Given the description of an element on the screen output the (x, y) to click on. 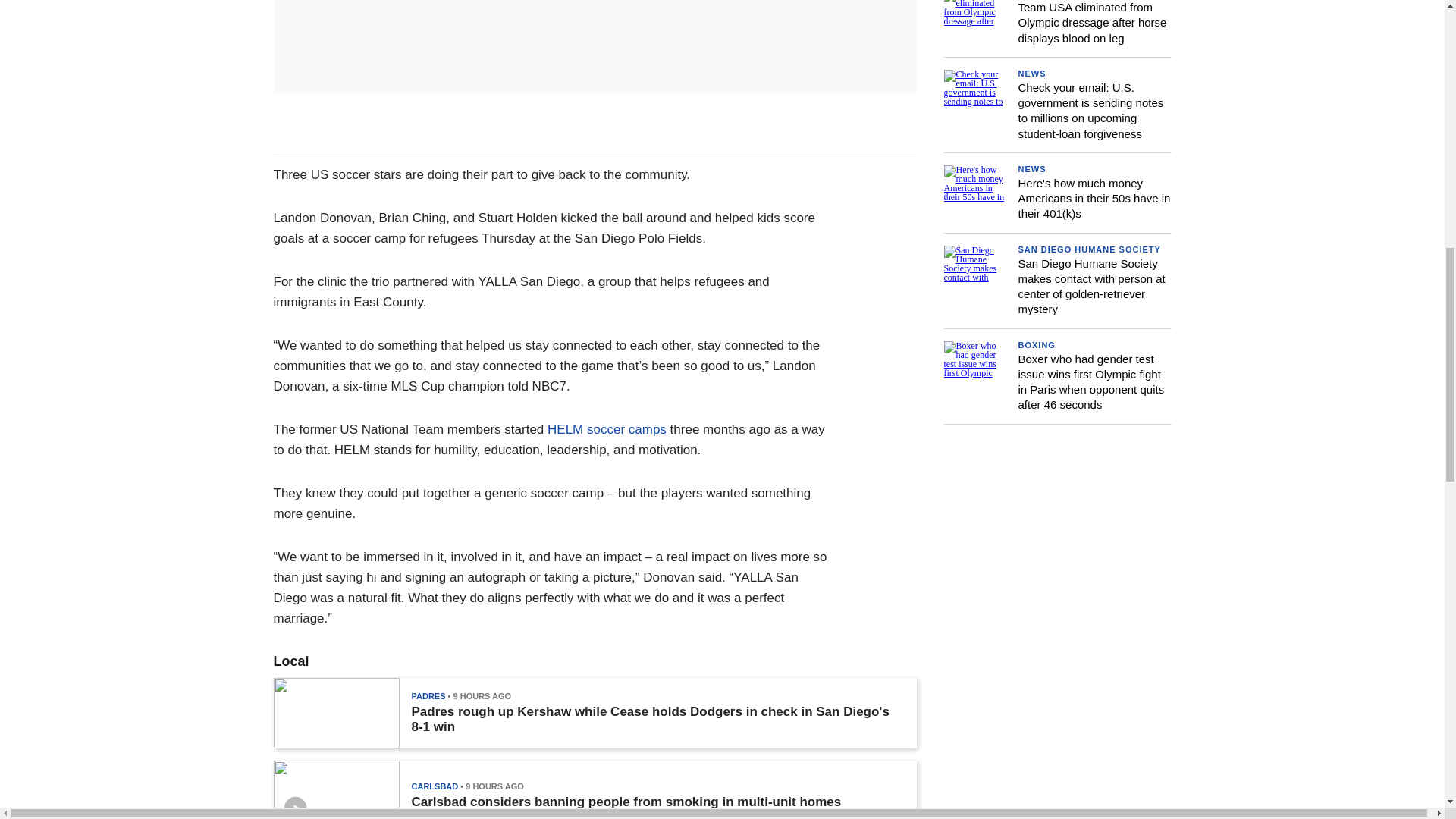
CARLSBAD (434, 786)
HELM soccer camps (606, 429)
PADRES (427, 696)
